Given the description of an element on the screen output the (x, y) to click on. 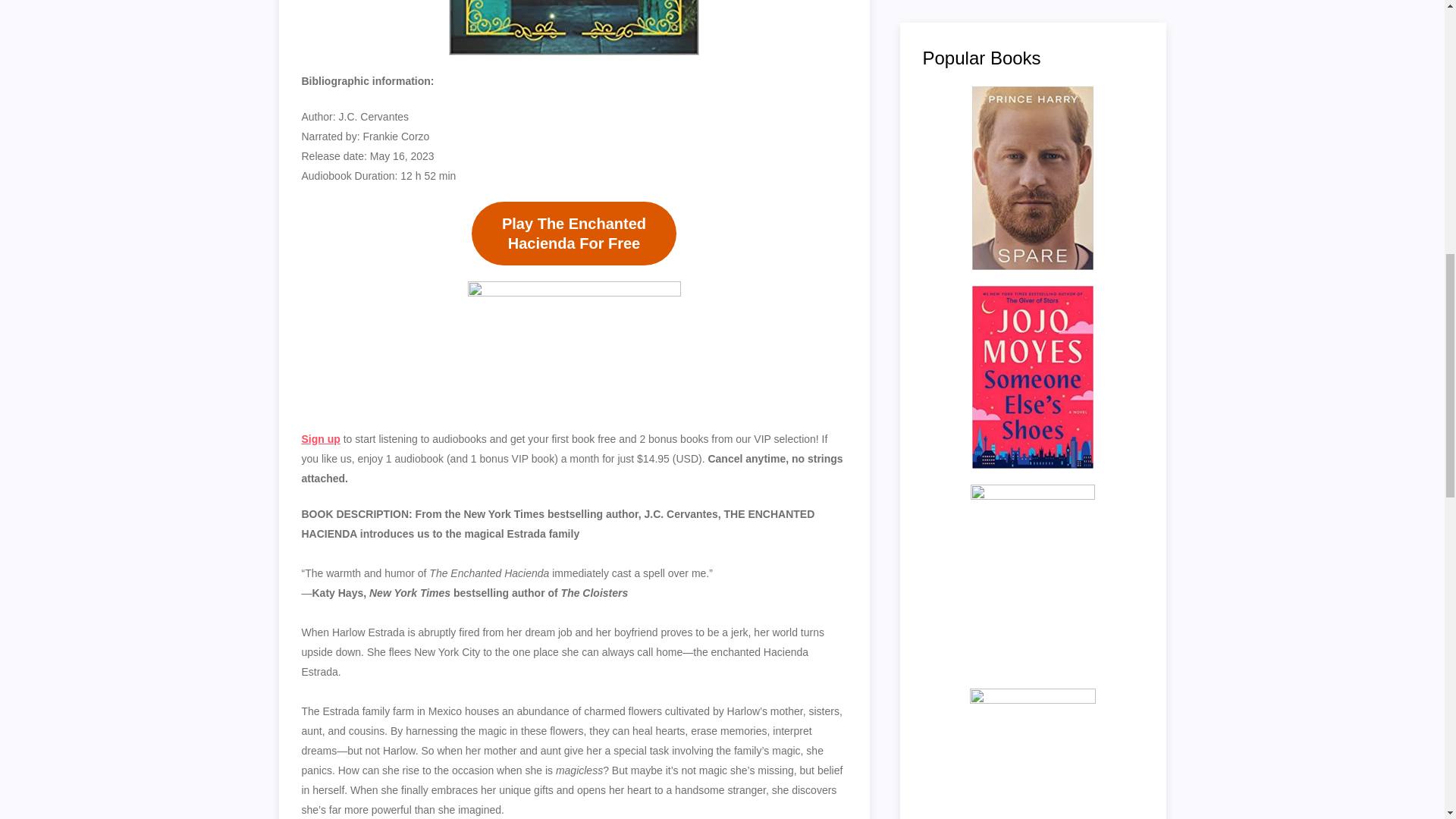
Sign up (574, 233)
